Given the description of an element on the screen output the (x, y) to click on. 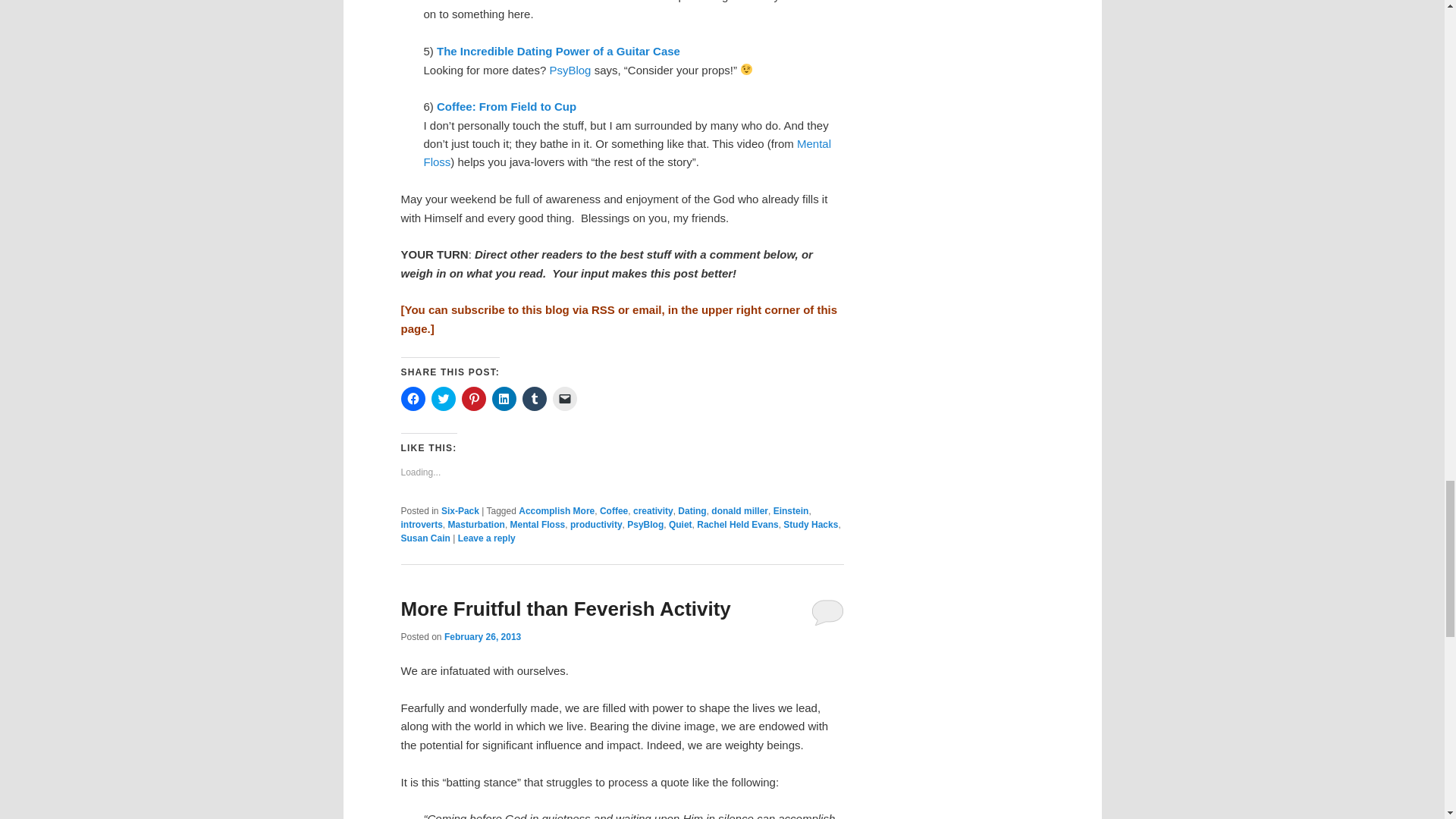
Click to share on LinkedIn (503, 398)
Click to share on Twitter (442, 398)
Click to share on Facebook (412, 398)
Click to share on Pinterest (472, 398)
